Given the description of an element on the screen output the (x, y) to click on. 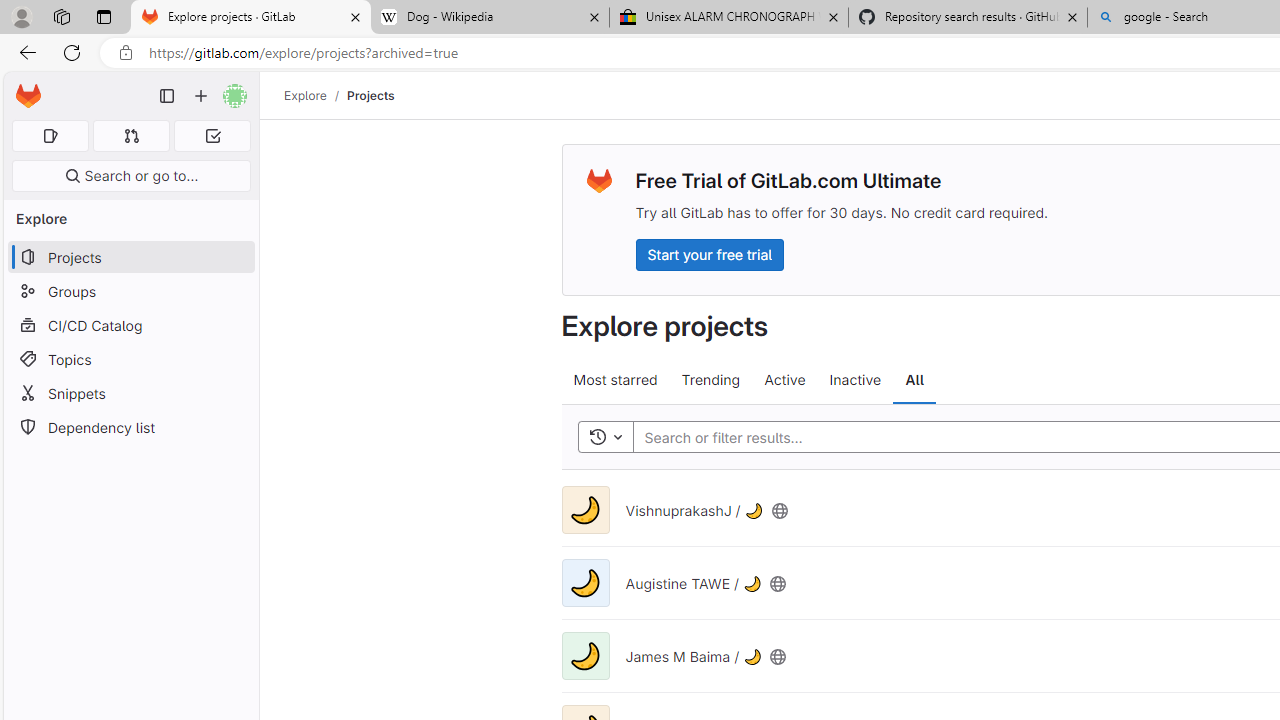
Snippets (130, 393)
CI/CD Catalog (130, 325)
Merge requests 0 (131, 136)
CI/CD Catalog (130, 325)
Topics (130, 358)
Groups (130, 291)
To-Do list 0 (212, 136)
Projects (370, 95)
Groups (130, 291)
Most starred (614, 379)
Inactive (854, 379)
Dependency list (130, 427)
